Given the description of an element on the screen output the (x, y) to click on. 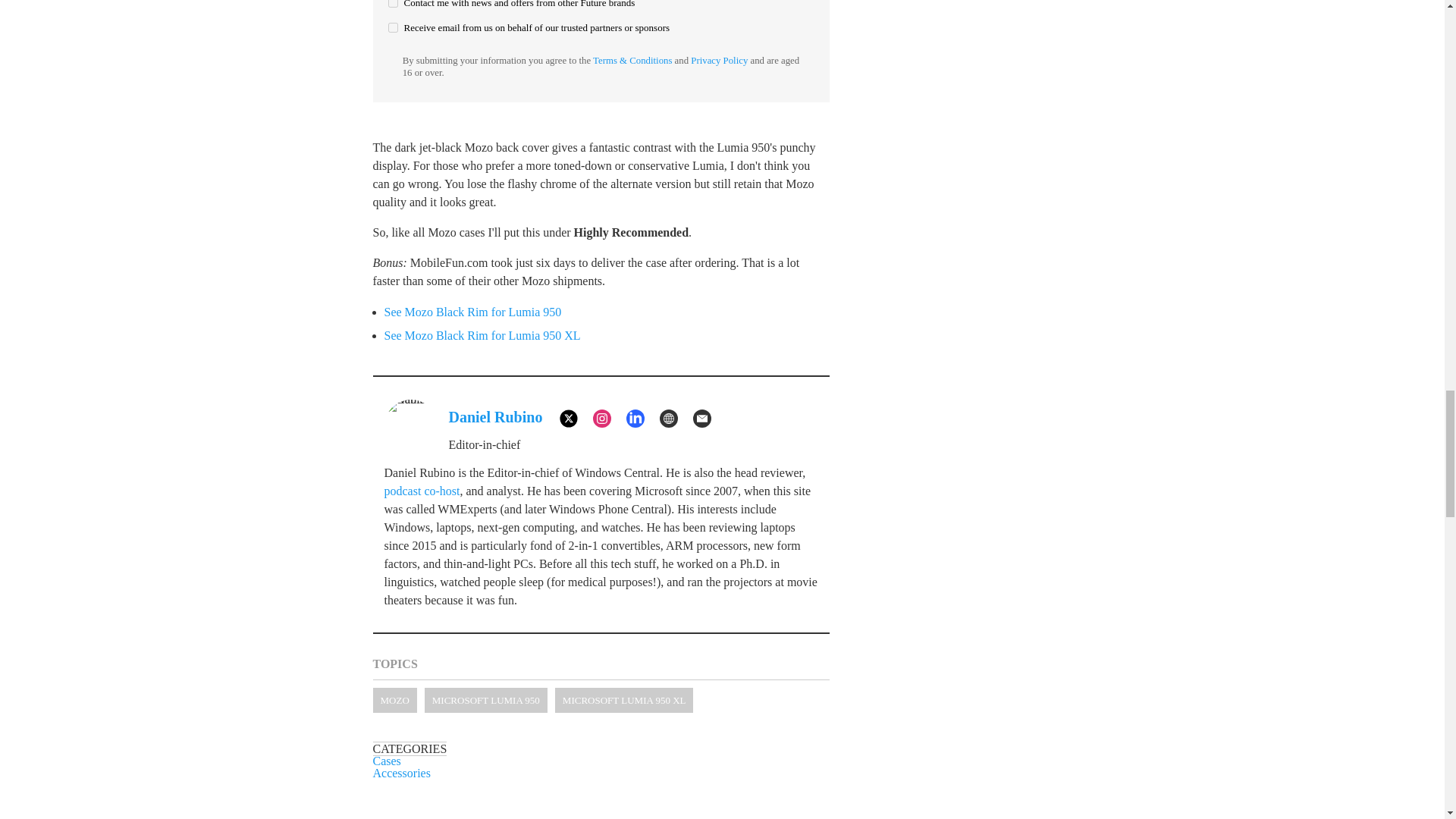
on (392, 27)
on (392, 3)
